Given the description of an element on the screen output the (x, y) to click on. 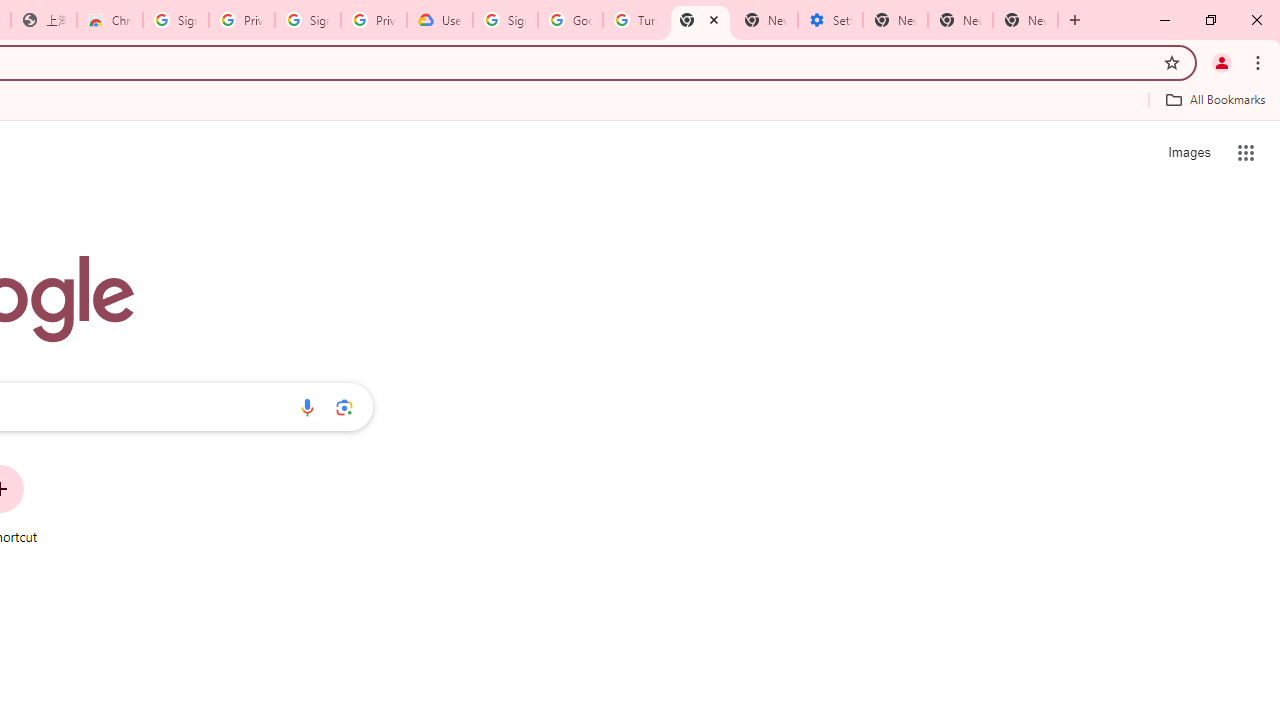
Sign in - Google Accounts (307, 20)
Chrome Web Store - Color themes by Chrome (109, 20)
Turn cookies on or off - Computer - Google Account Help (635, 20)
